Given the description of an element on the screen output the (x, y) to click on. 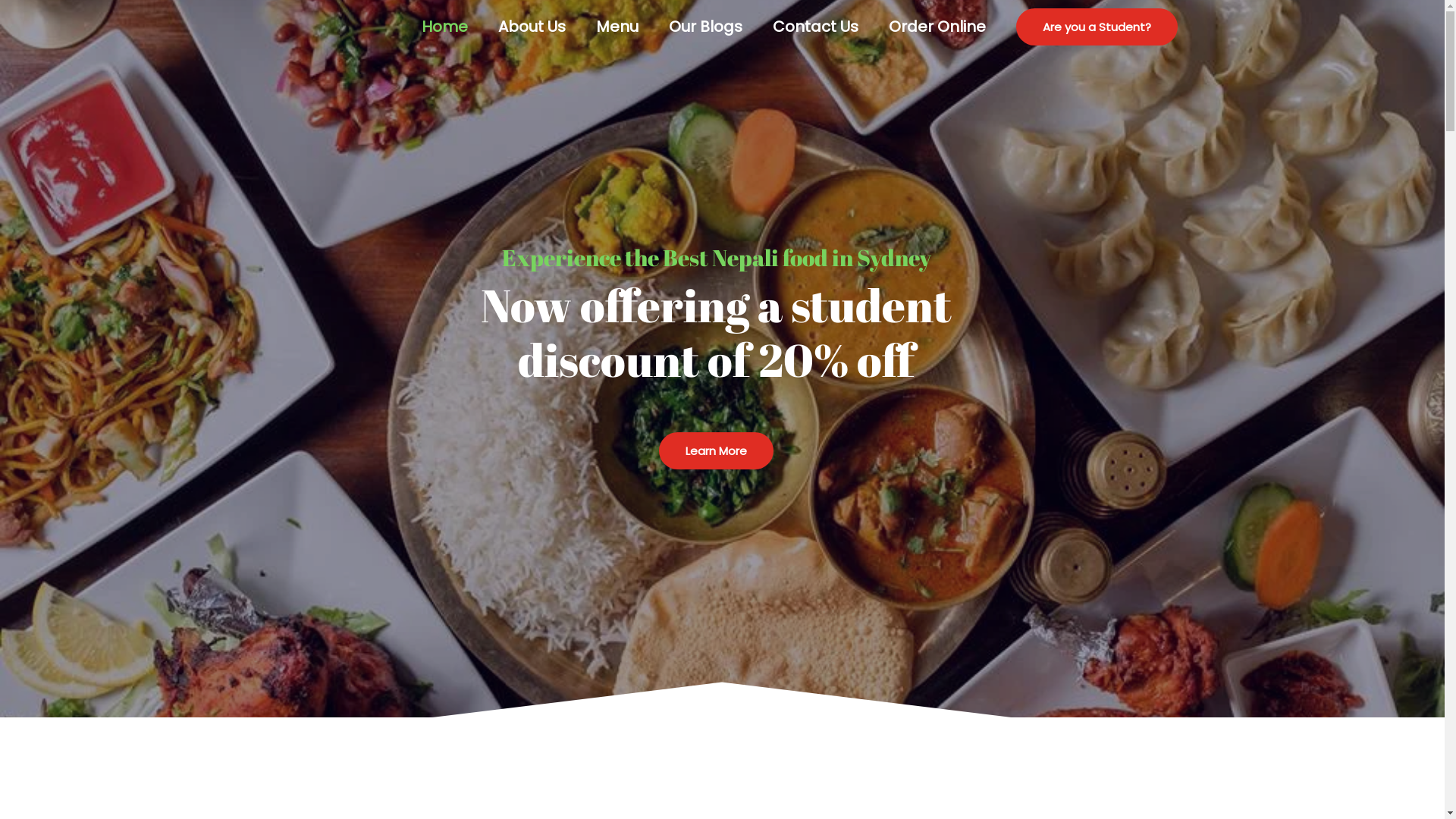
Contact Us Element type: text (814, 26)
Order Online Element type: text (937, 26)
Learn More Element type: text (715, 450)
About Us Element type: text (531, 26)
Our Blogs Element type: text (705, 26)
Are you a Student? Element type: text (1096, 25)
Menu Element type: text (616, 26)
Home Element type: text (444, 26)
